Given the description of an element on the screen output the (x, y) to click on. 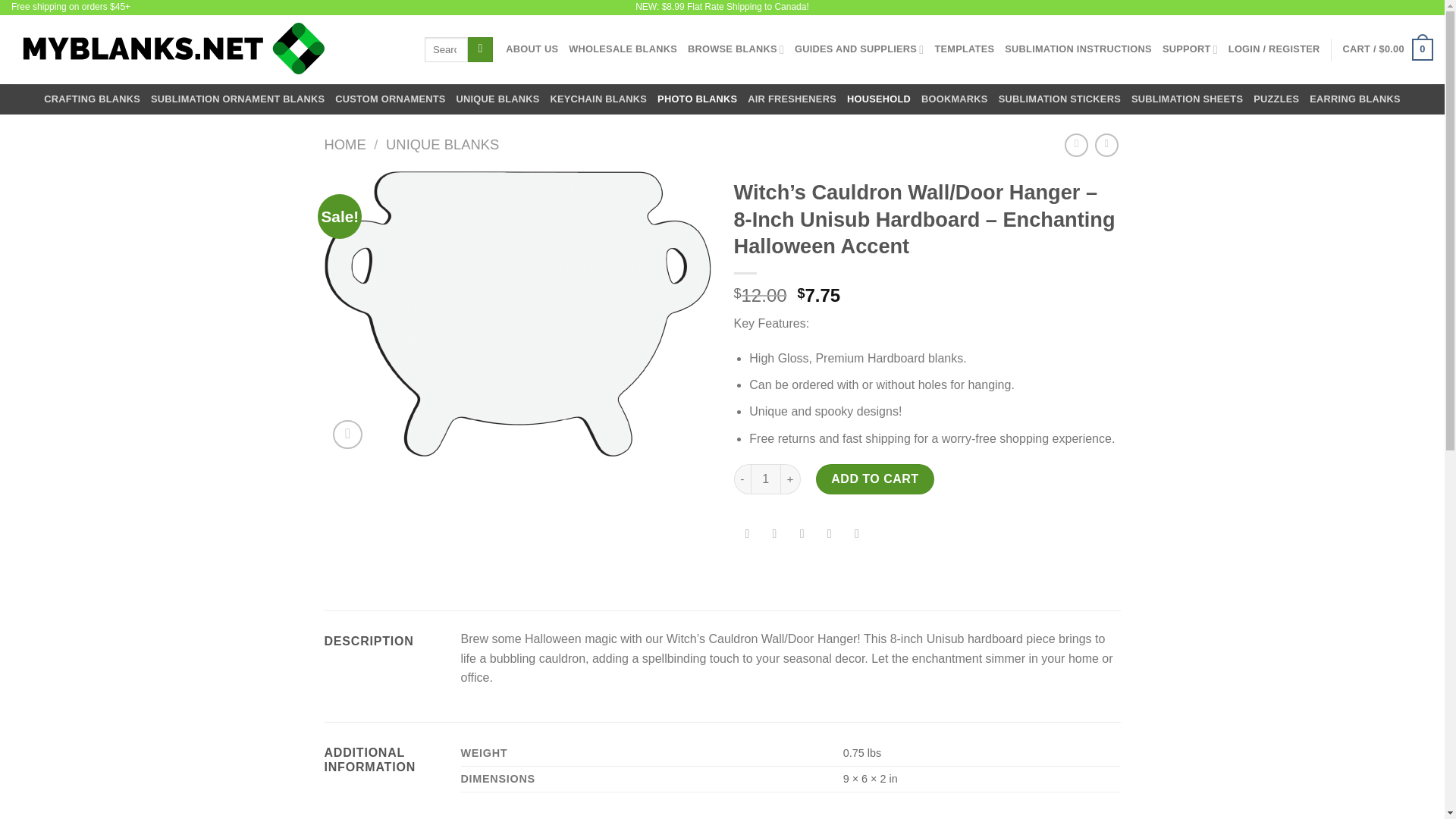
SUBLIMATION INSTRUCTIONS (1077, 49)
ABOUT US (531, 49)
GUIDES AND SUPPLIERS (858, 49)
SUBLIMATION ORNAMENT BLANKS (237, 99)
SUPPORT (1189, 49)
Cart (1387, 49)
Email to a Friend (801, 534)
1 (765, 479)
Share on Twitter (774, 534)
CRAFTING BLANKS (91, 99)
